Given the description of an element on the screen output the (x, y) to click on. 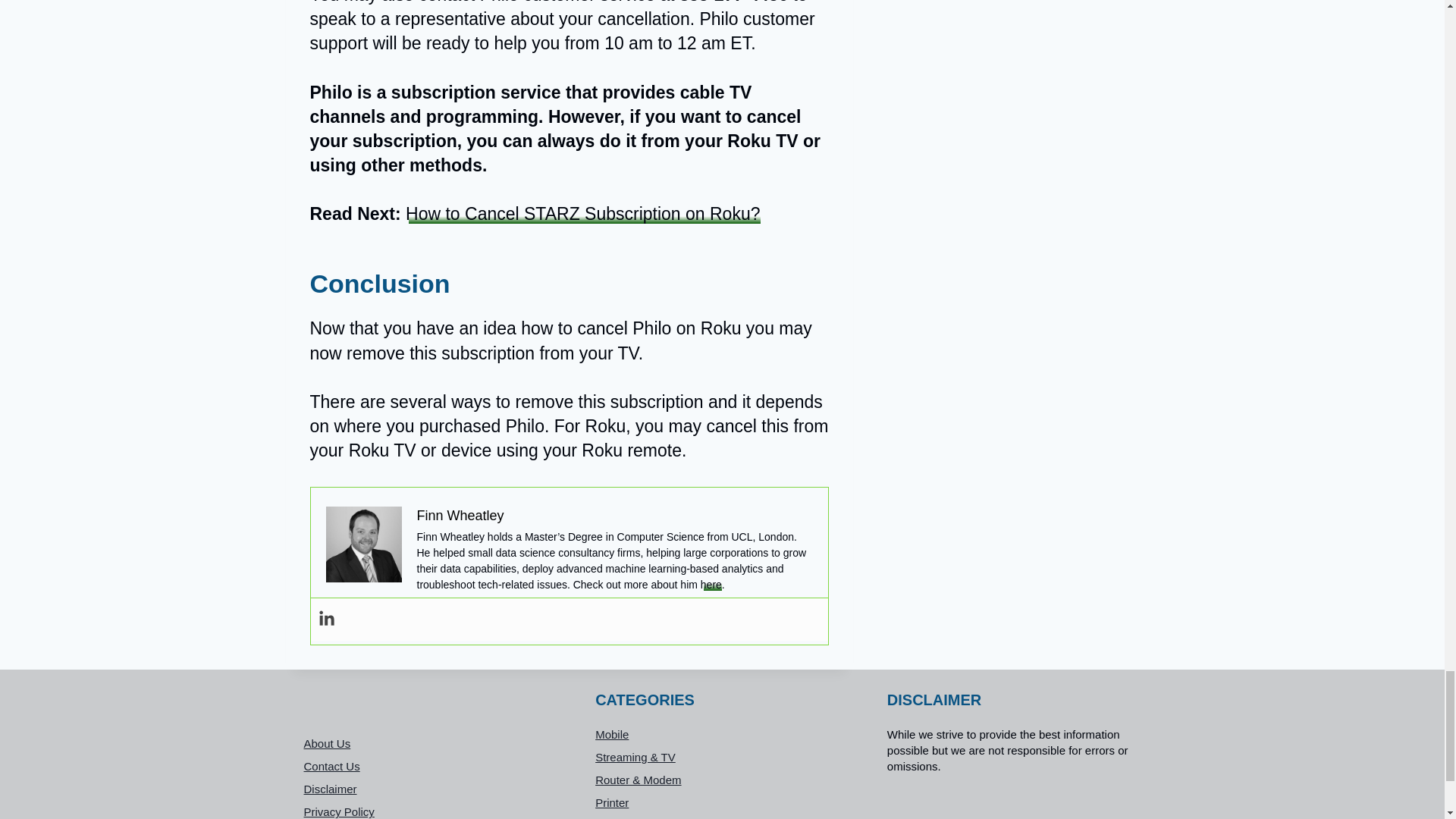
How to Cancel Philo on Roku? Quick Guide 2 (363, 544)
How to Cancel STARZ Subscription on Roku? (583, 213)
DMCA.com Protection Status (1013, 802)
